Given the description of an element on the screen output the (x, y) to click on. 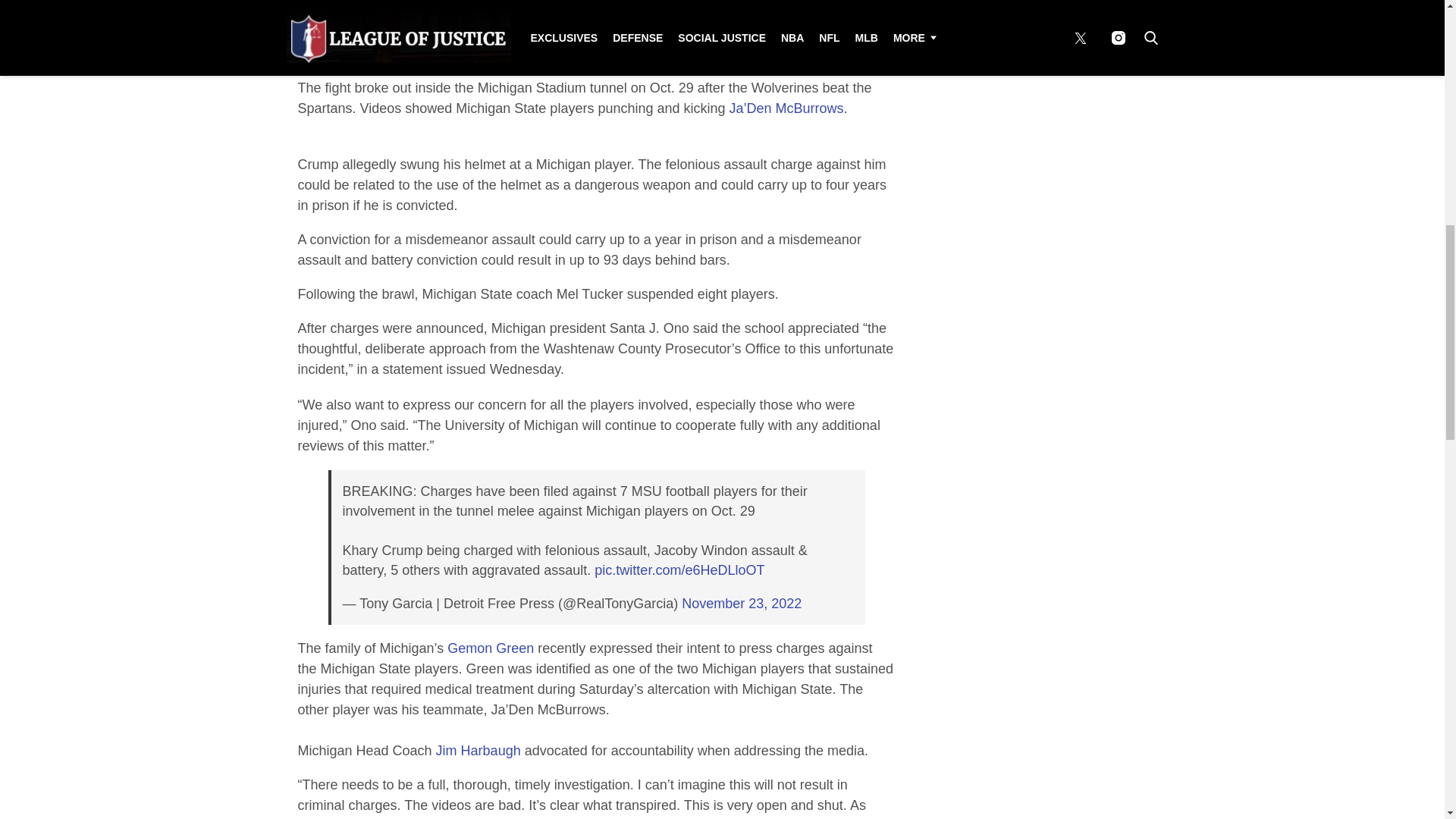
Gemon Green (490, 648)
November 23, 2022 (741, 603)
Jim Harbaugh (478, 750)
